Given the description of an element on the screen output the (x, y) to click on. 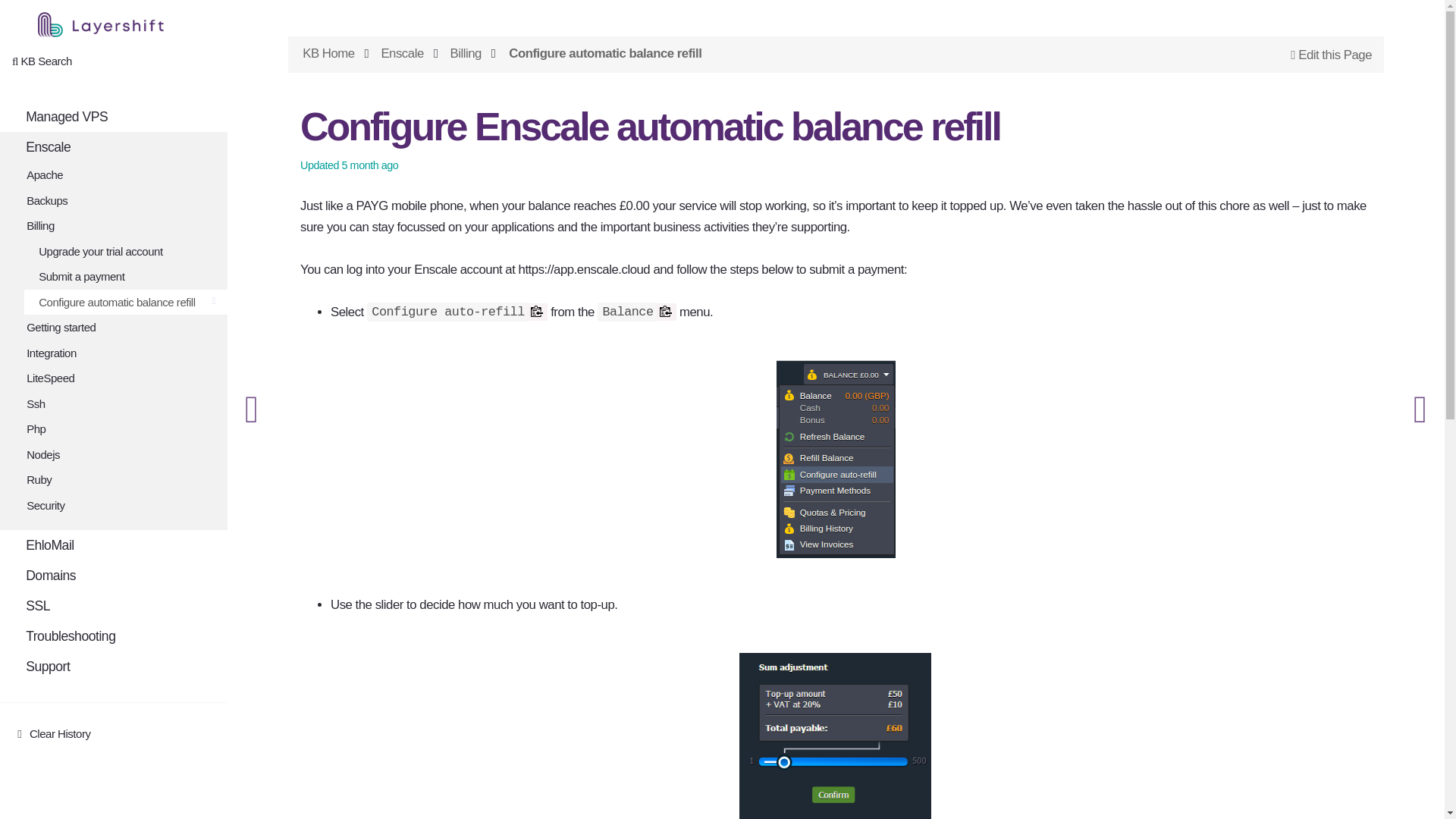
Billing (119, 225)
Enscale (113, 146)
2024-03-04 14:24 (370, 164)
Backups (119, 200)
Apache (119, 175)
Managed VPS (113, 116)
KB Search (41, 61)
Upgrade your trial account (125, 251)
Copy to clipboard (537, 312)
Copy to clipboard (666, 312)
